Given the description of an element on the screen output the (x, y) to click on. 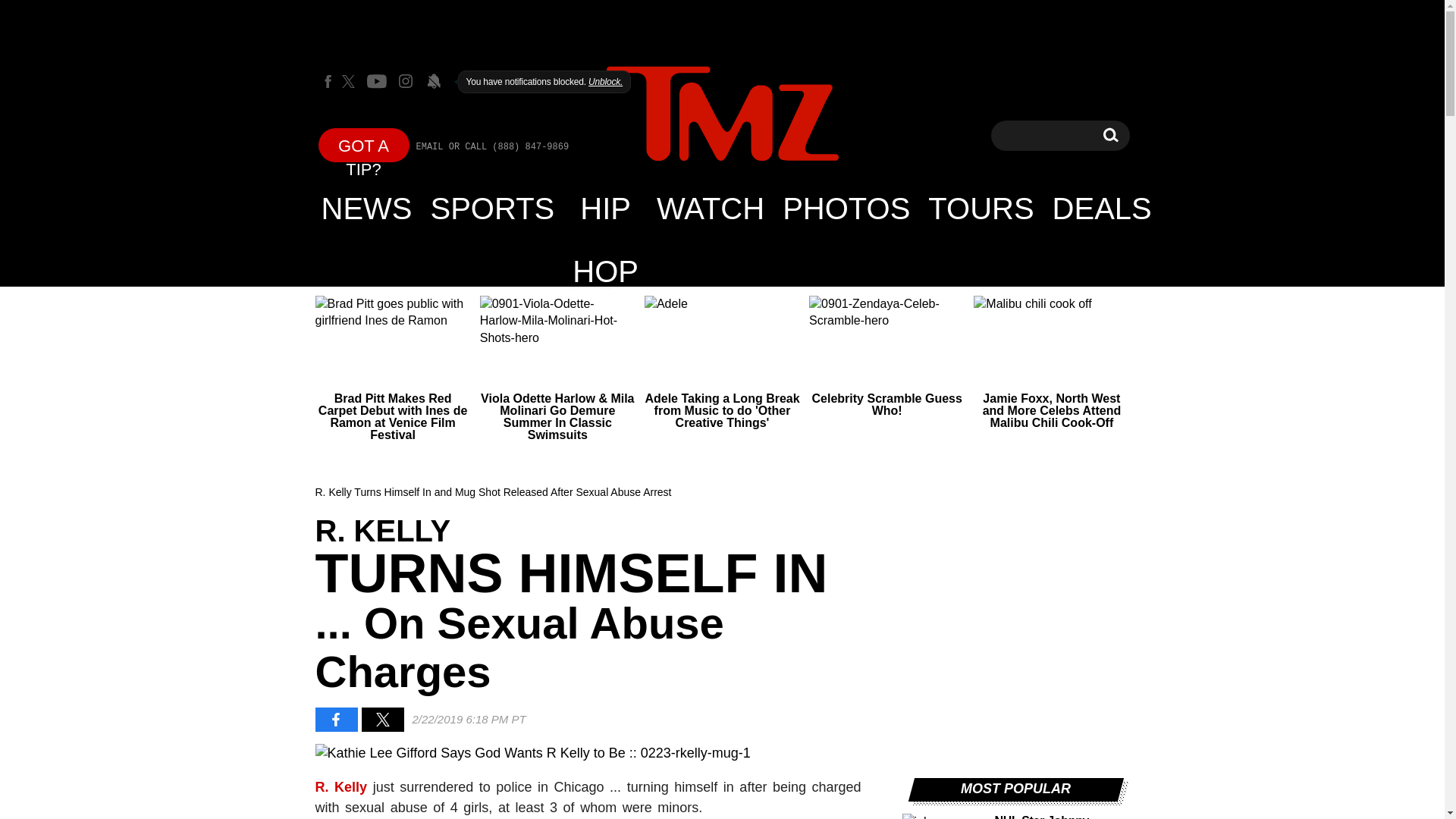
DEALS (1101, 207)
GOT A TIP? (363, 144)
SPORTS (493, 207)
PHOTOS (845, 207)
WATCH (710, 207)
TOURS (980, 207)
TMZ (722, 113)
Search (1110, 135)
HIP HOP (1110, 134)
